Given the description of an element on the screen output the (x, y) to click on. 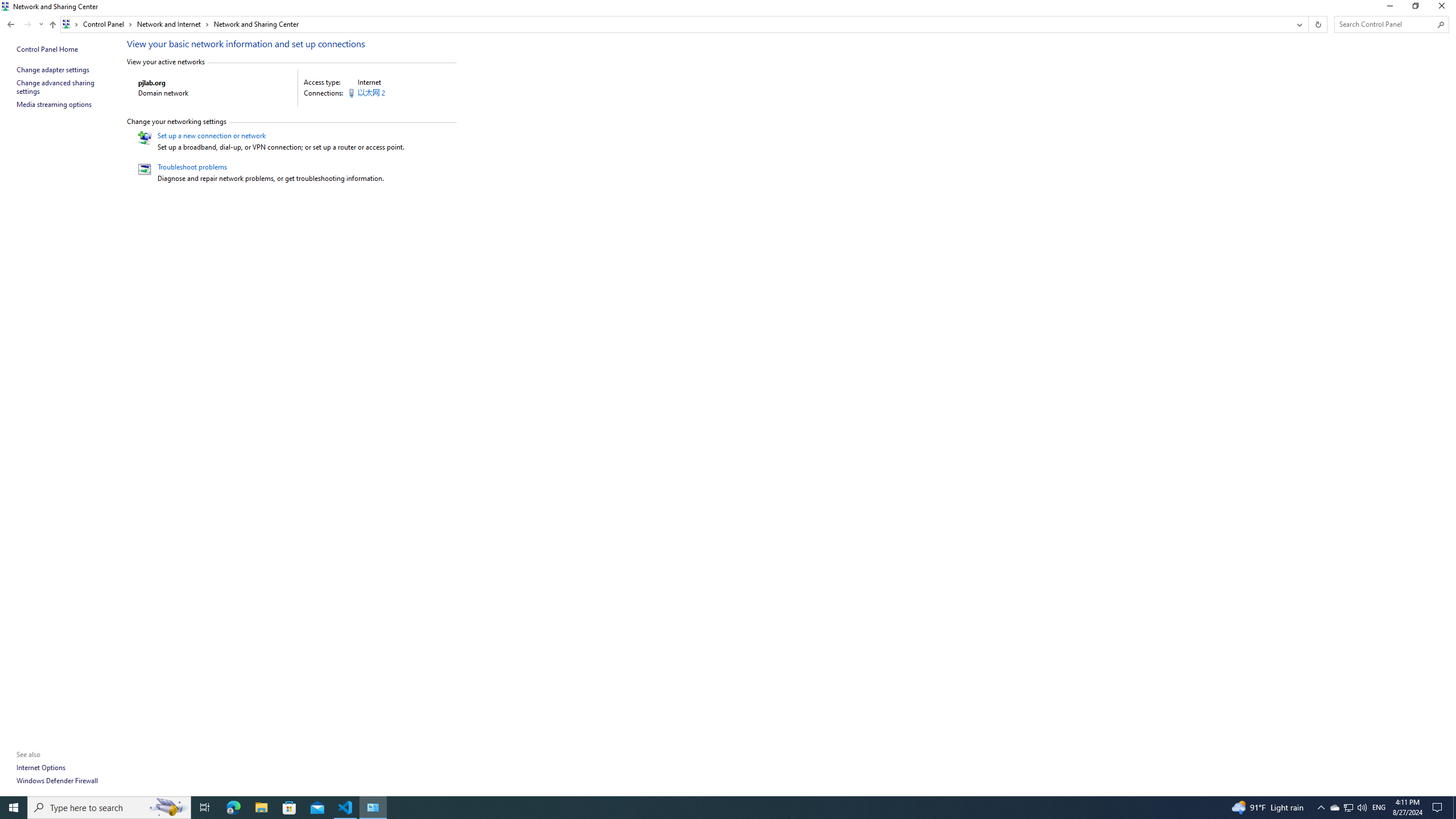
Forward (Alt + Right Arrow) (27, 23)
Windows Defender Firewall (57, 780)
Minimize (1388, 8)
Navigation buttons (24, 23)
All locations (70, 23)
Set up a new connection or network (210, 135)
Change adapter settings (53, 69)
Running applications (706, 807)
Up band toolbar (52, 26)
Recent locations (40, 23)
Previous Locations (1298, 23)
